Given the description of an element on the screen output the (x, y) to click on. 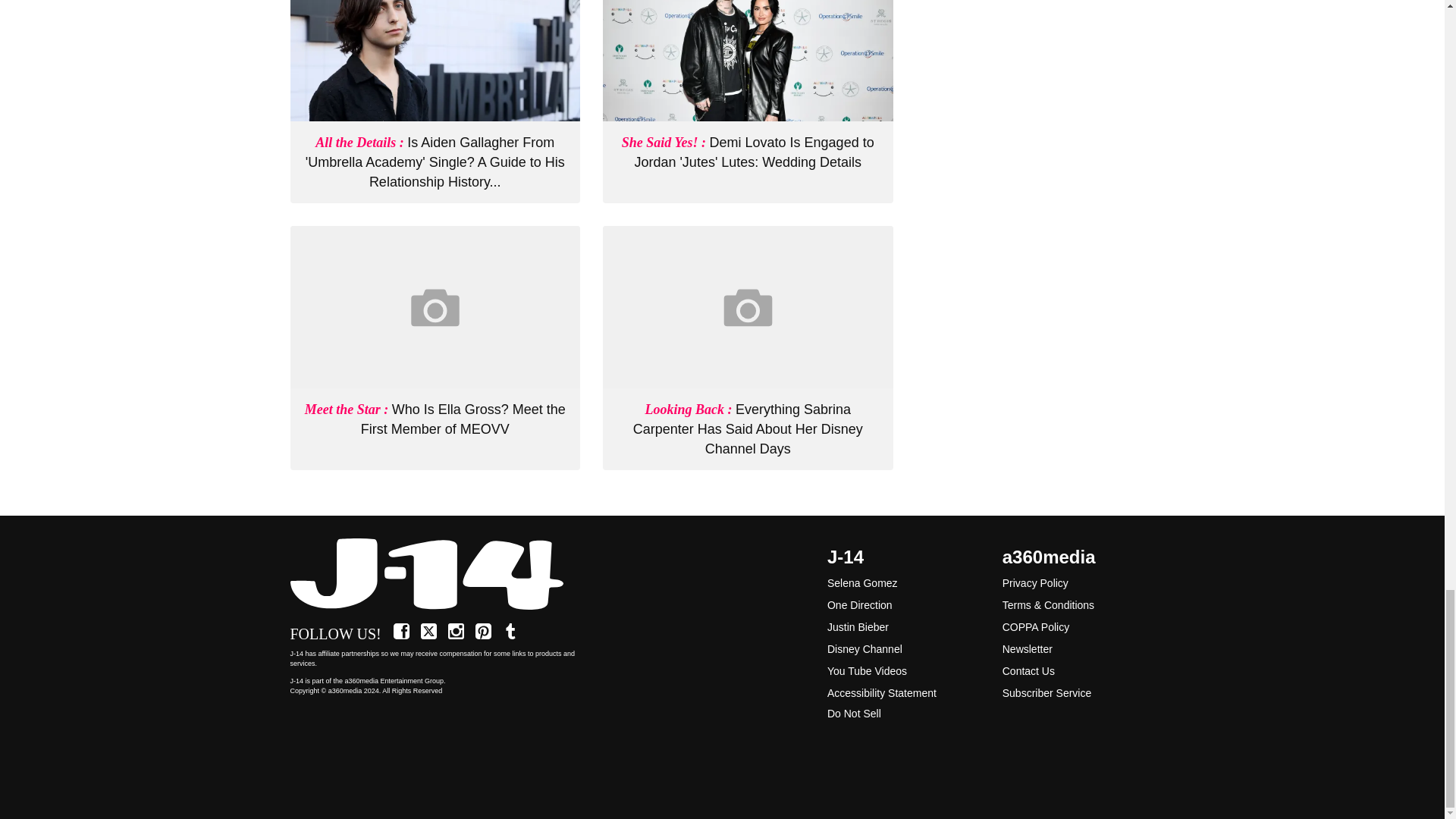
Home (434, 574)
